Given the description of an element on the screen output the (x, y) to click on. 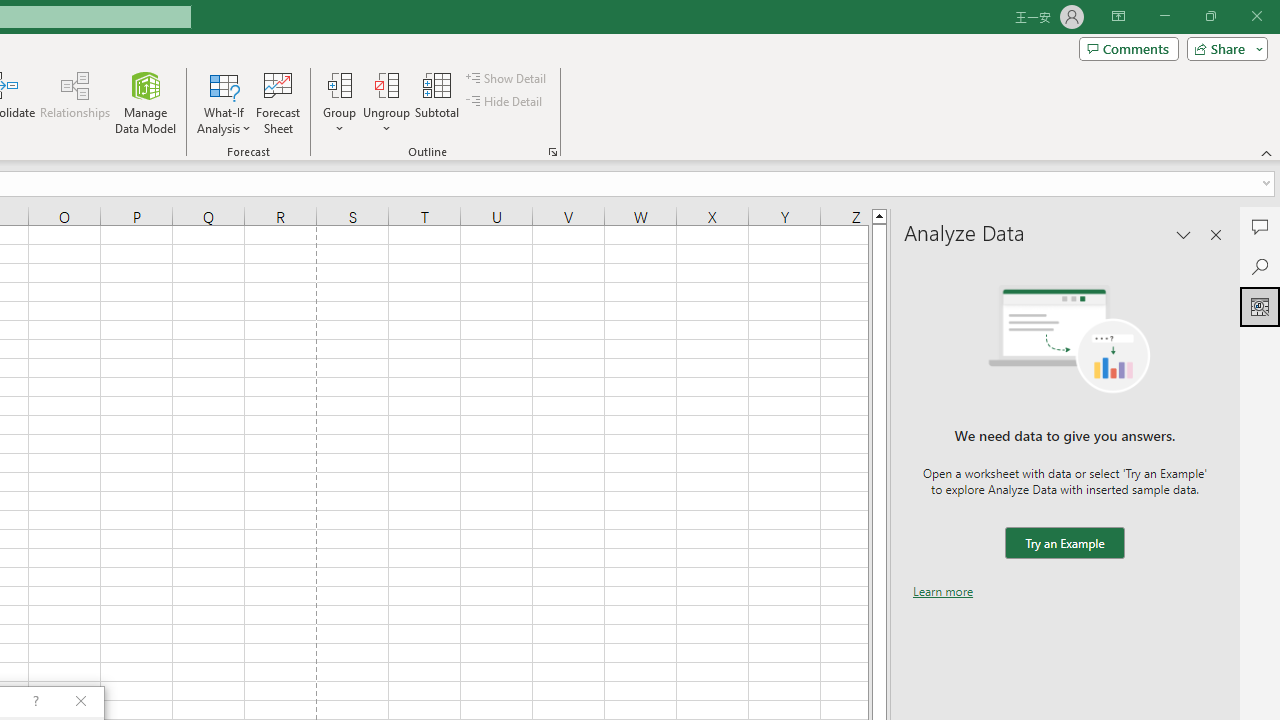
What-If Analysis (223, 102)
Relationships (75, 102)
Group and Outline Settings (552, 151)
Show Detail (507, 78)
Manage Data Model (145, 102)
